Given the description of an element on the screen output the (x, y) to click on. 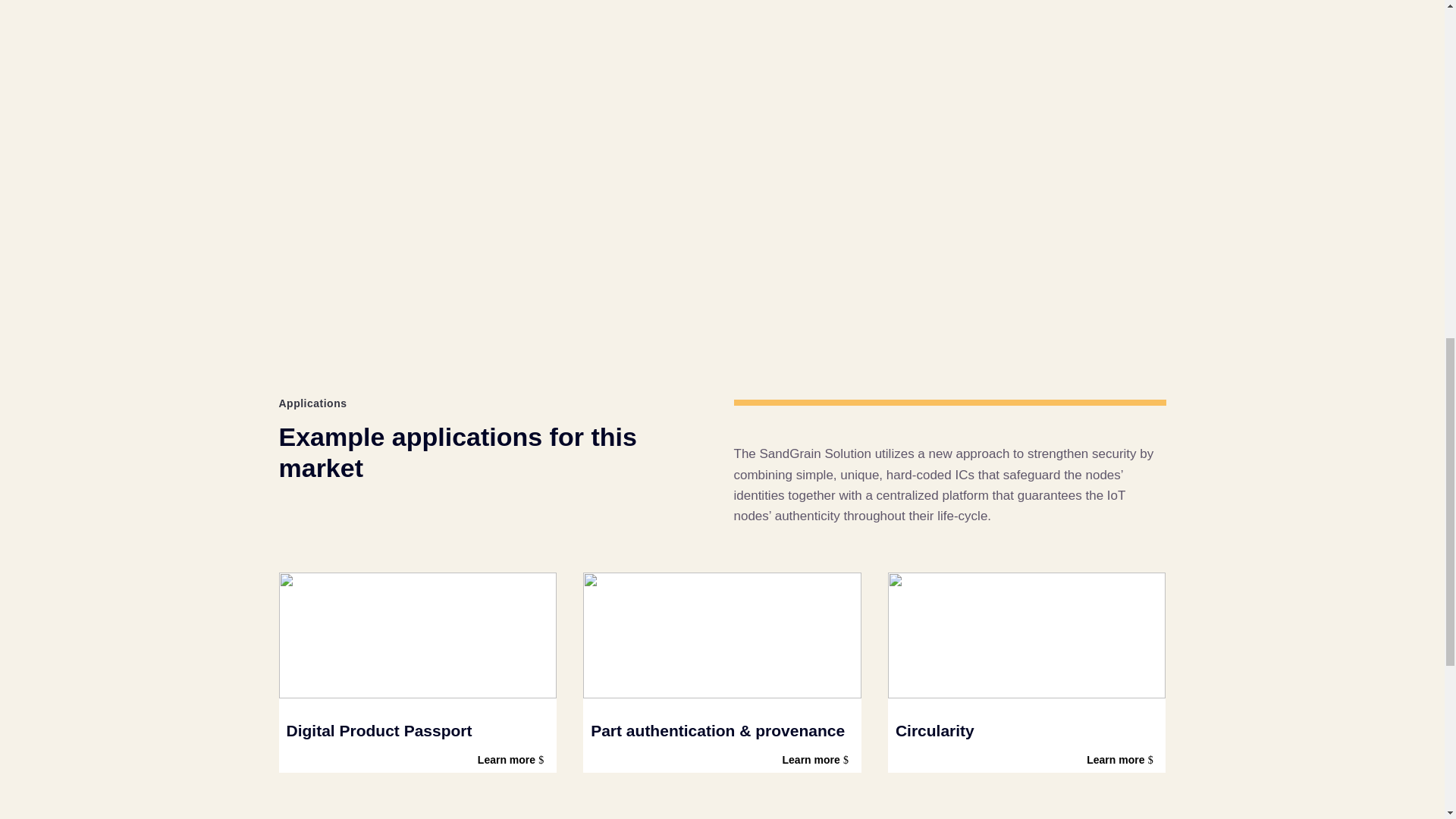
circularity (1027, 635)
DPP V2 (418, 635)
Learn more (513, 759)
Learn more (1122, 759)
authentication technology (722, 635)
Learn more (817, 759)
